Given the description of an element on the screen output the (x, y) to click on. 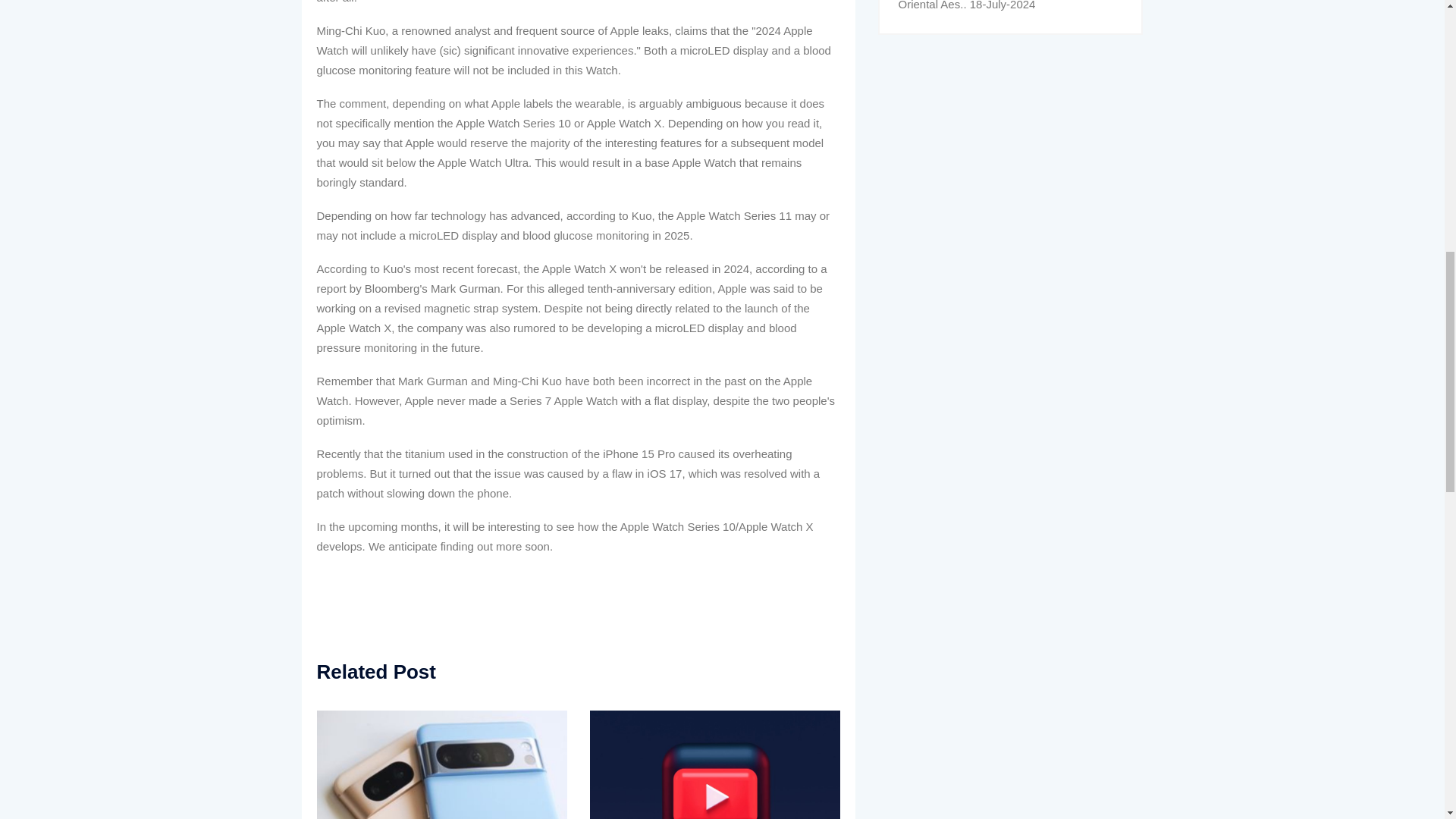
Aggressive Beauty Brand, QIANYA Leads Oriental Aes.. (1003, 5)
